Given the description of an element on the screen output the (x, y) to click on. 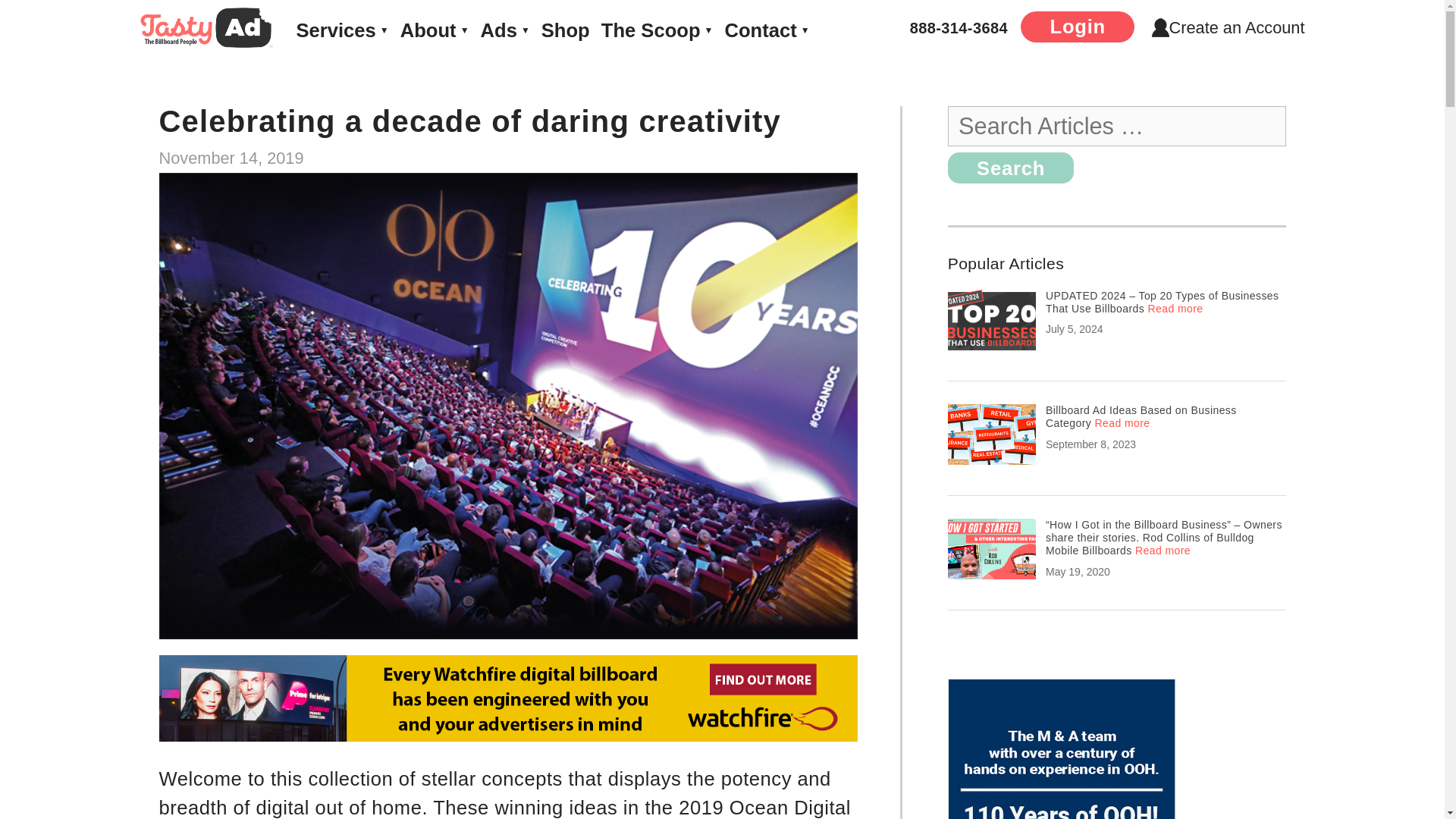
Search (1010, 167)
888-314-3684 (958, 27)
Contact (766, 30)
The Scoop (657, 30)
Shop (565, 30)
About (434, 30)
Create an Account (1227, 27)
Ads (504, 30)
Search (1010, 167)
Services (341, 30)
Login (1077, 26)
